Given the description of an element on the screen output the (x, y) to click on. 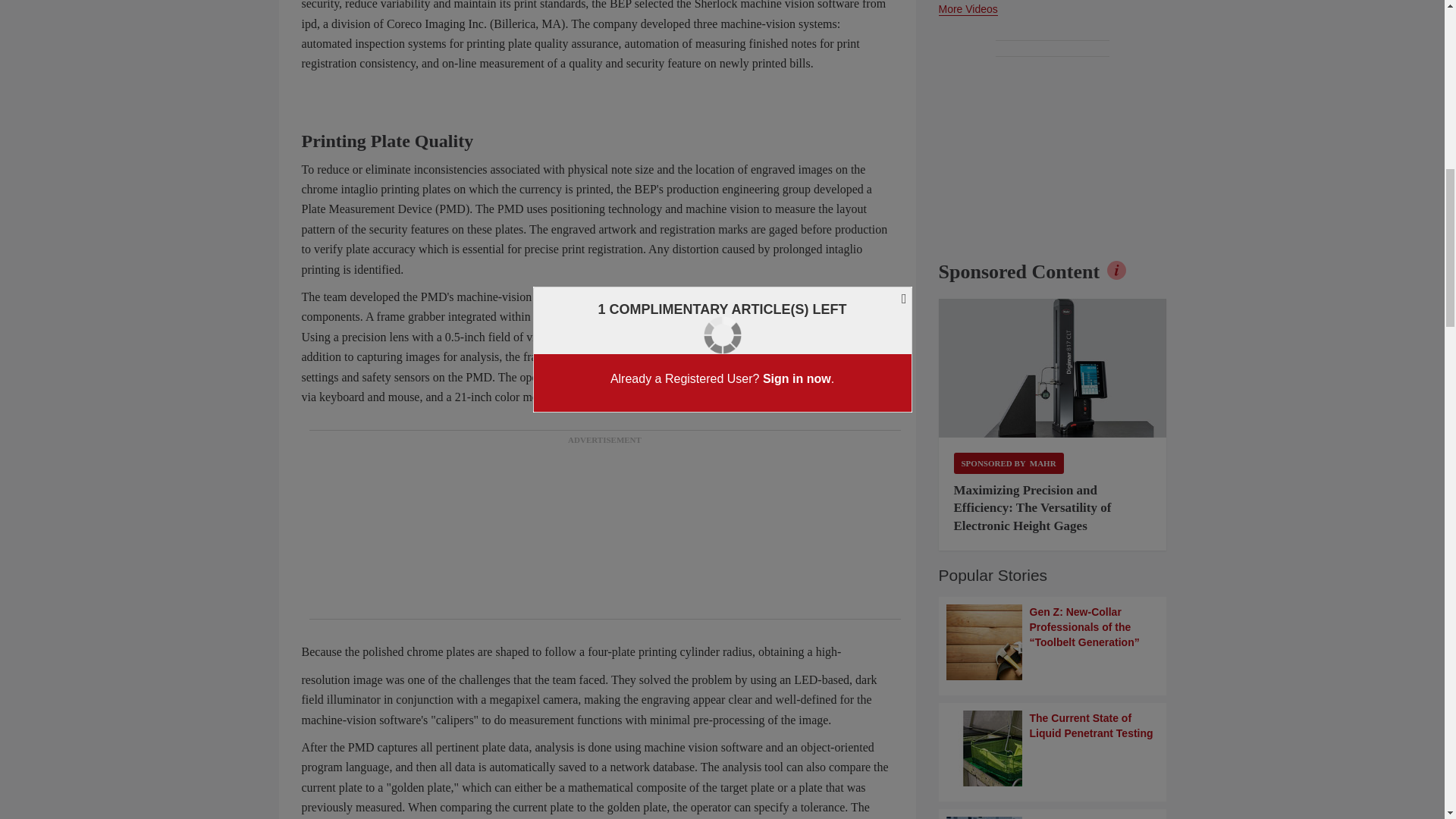
Sponsored by Mahr (1008, 462)
The Current State of Liquid Penetrant Testing (1052, 748)
Digimar 817-CLT 4429601 with grey background (1052, 368)
